Given the description of an element on the screen output the (x, y) to click on. 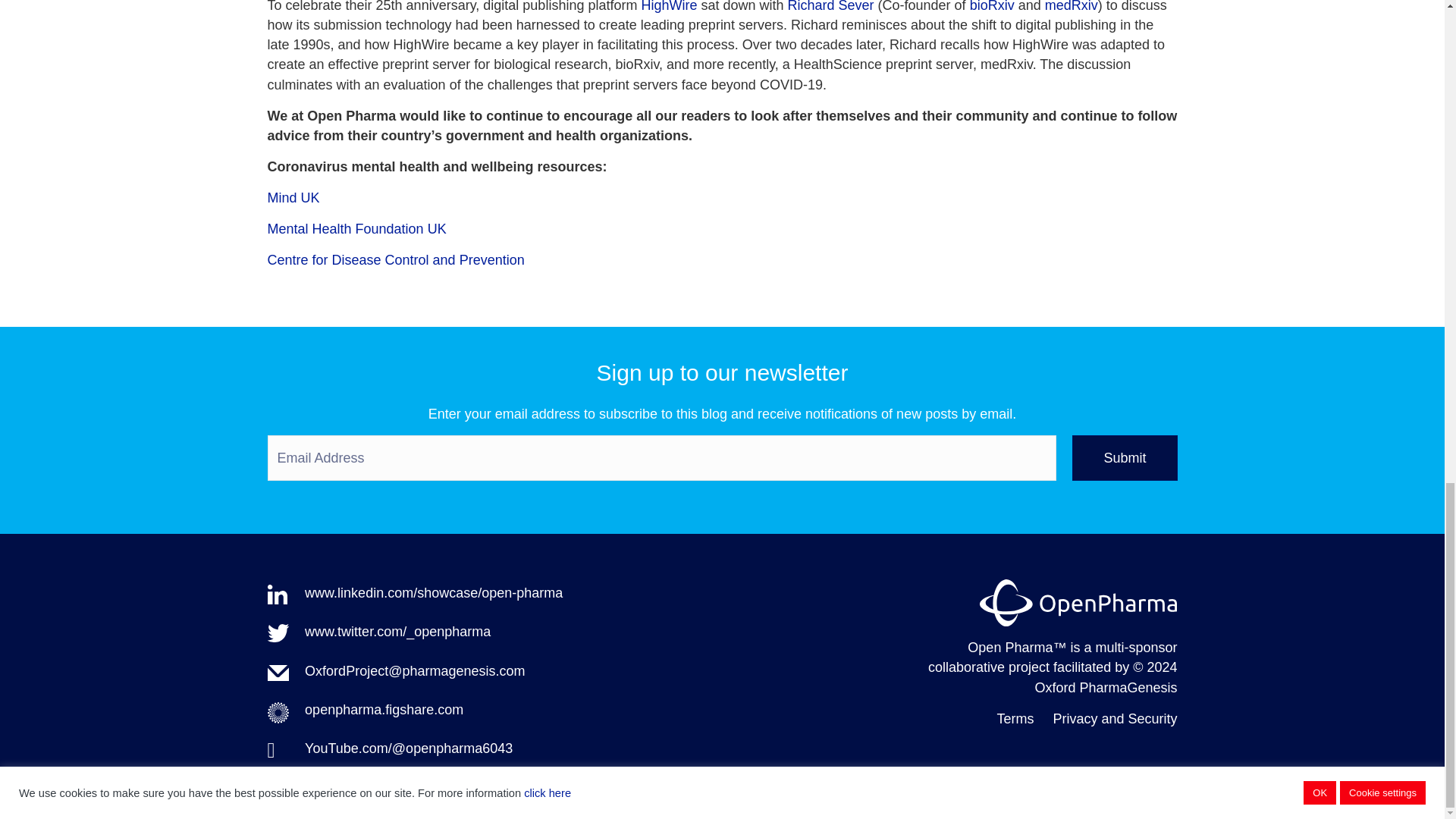
Follow us on LinkedIn (433, 592)
bioRxiv (991, 6)
Centre for Disease Control and Prevention (395, 259)
Richard Sever (831, 6)
Mind UK (292, 197)
medRxiv (1071, 6)
Visit OpenPharma Figs Share website (383, 709)
Mental Health Foundation UK (355, 228)
Submit (1123, 457)
Follow us on Twitter (397, 631)
Email address (414, 670)
HighWire (668, 6)
OpenPharma Logo - White (1077, 602)
